Given the description of an element on the screen output the (x, y) to click on. 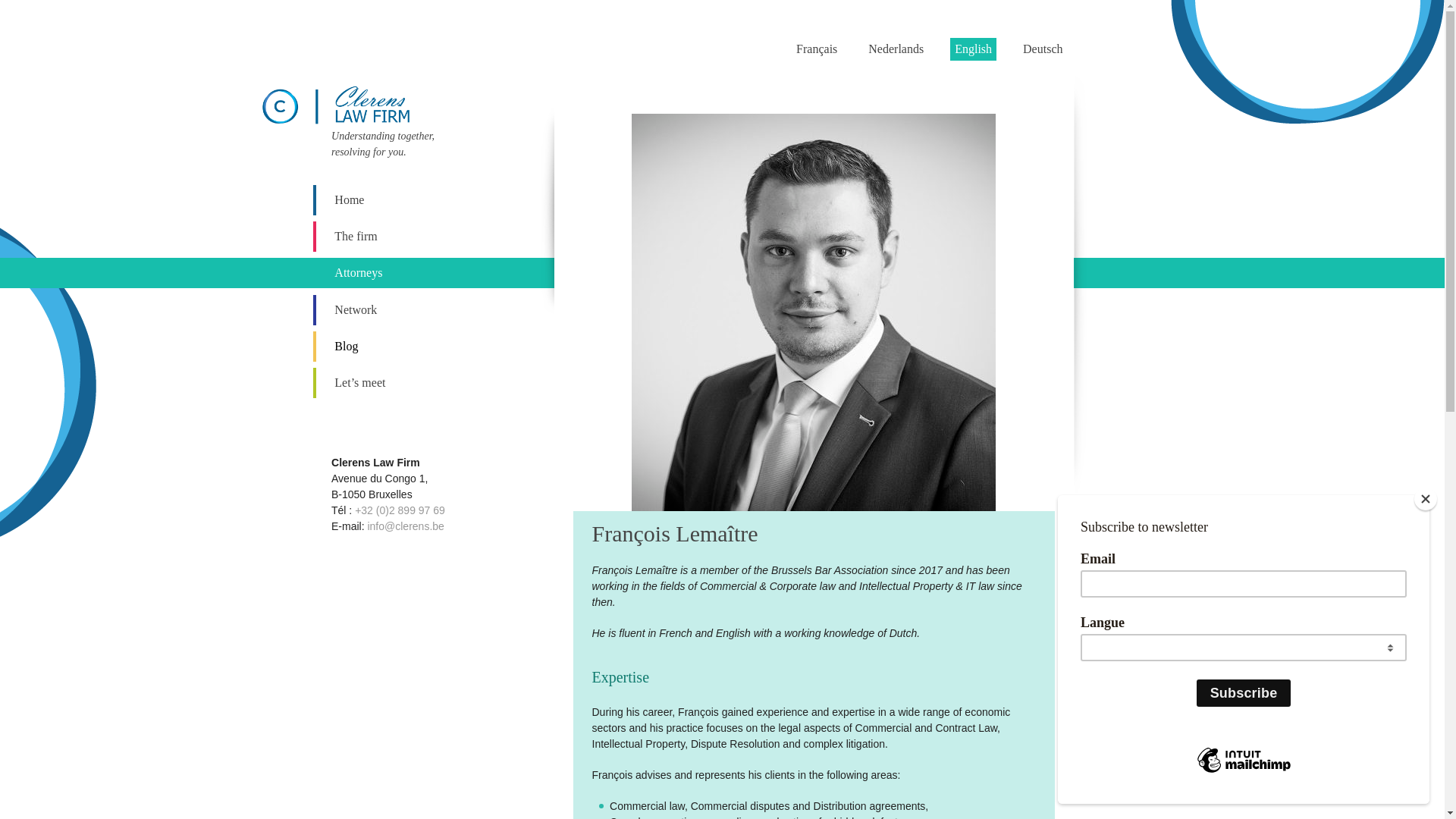
Clerens Law Firm Element type: hover (356, 101)
Network Element type: text (389, 309)
+32 (0)2 899 97 69 Element type: text (399, 510)
Deutsch Element type: text (1042, 48)
Blog Element type: text (389, 346)
Nederlands Element type: text (895, 48)
The firm Element type: text (389, 236)
English Element type: text (973, 48)
Attorneys Element type: text (389, 272)
info@clerens.be Element type: text (405, 526)
Home Element type: text (389, 200)
